Given the description of an element on the screen output the (x, y) to click on. 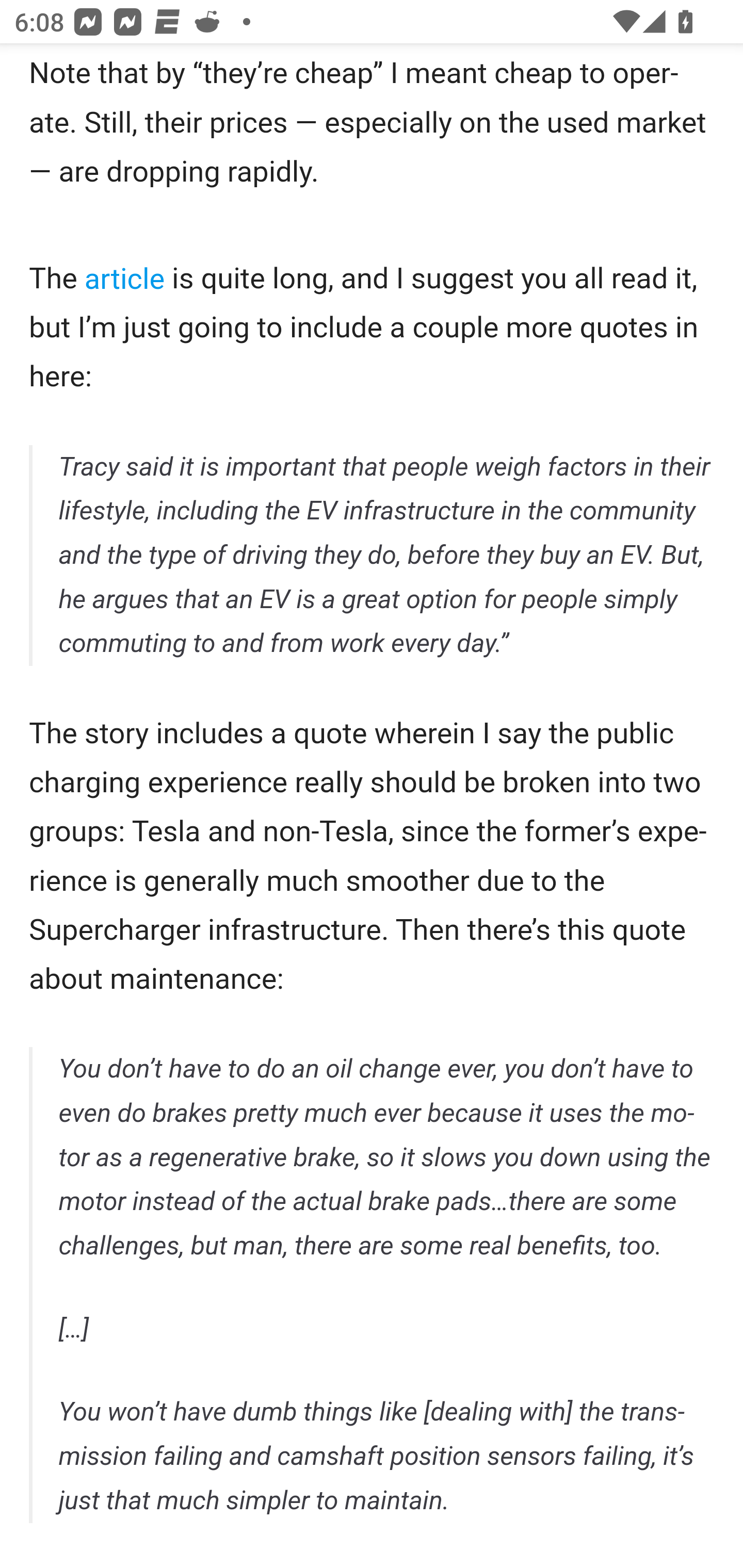
article (124, 278)
